Given the description of an element on the screen output the (x, y) to click on. 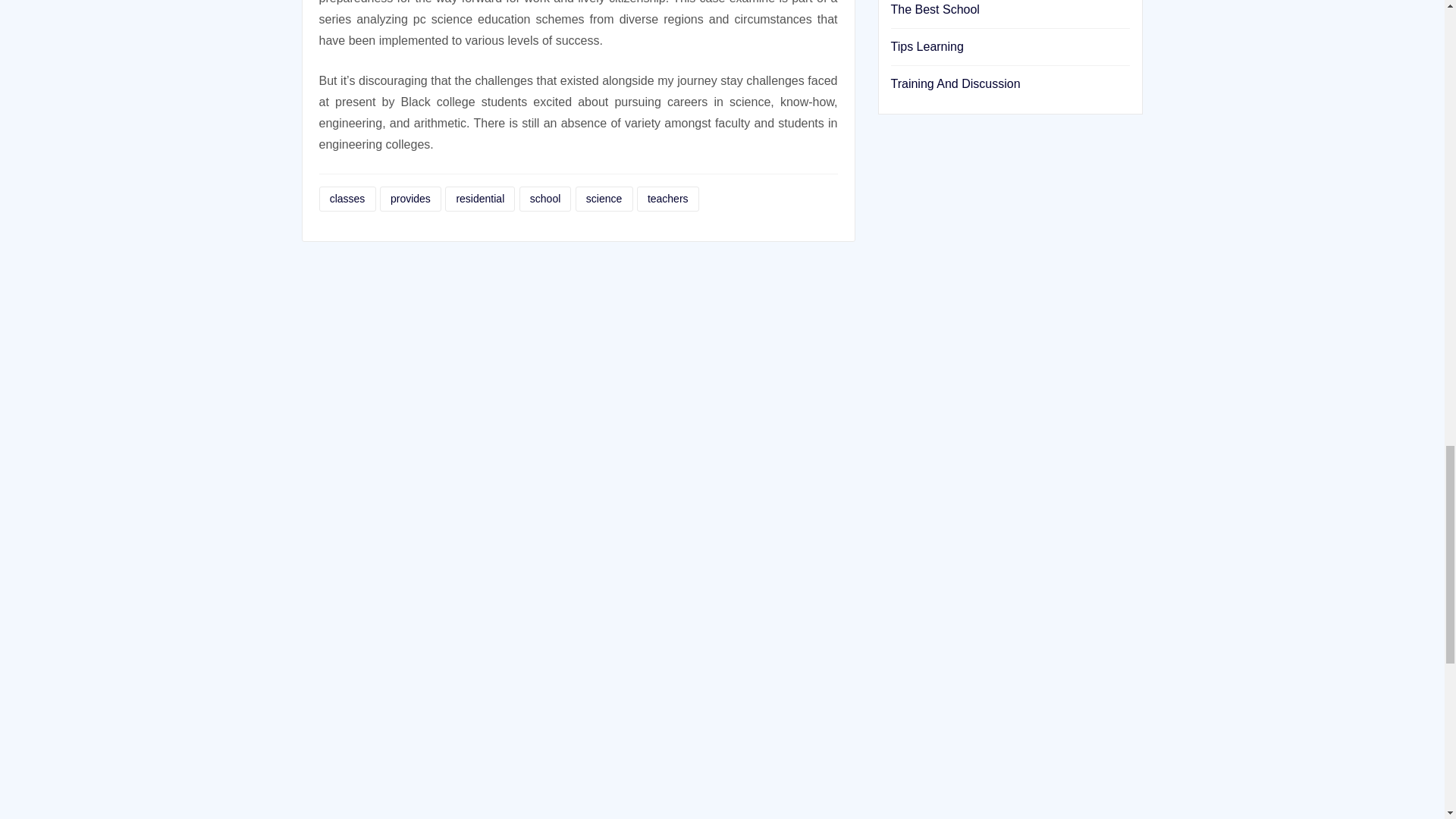
provides (410, 198)
school (545, 198)
classes (346, 198)
teachers (667, 198)
residential (480, 198)
science (604, 198)
